Given the description of an element on the screen output the (x, y) to click on. 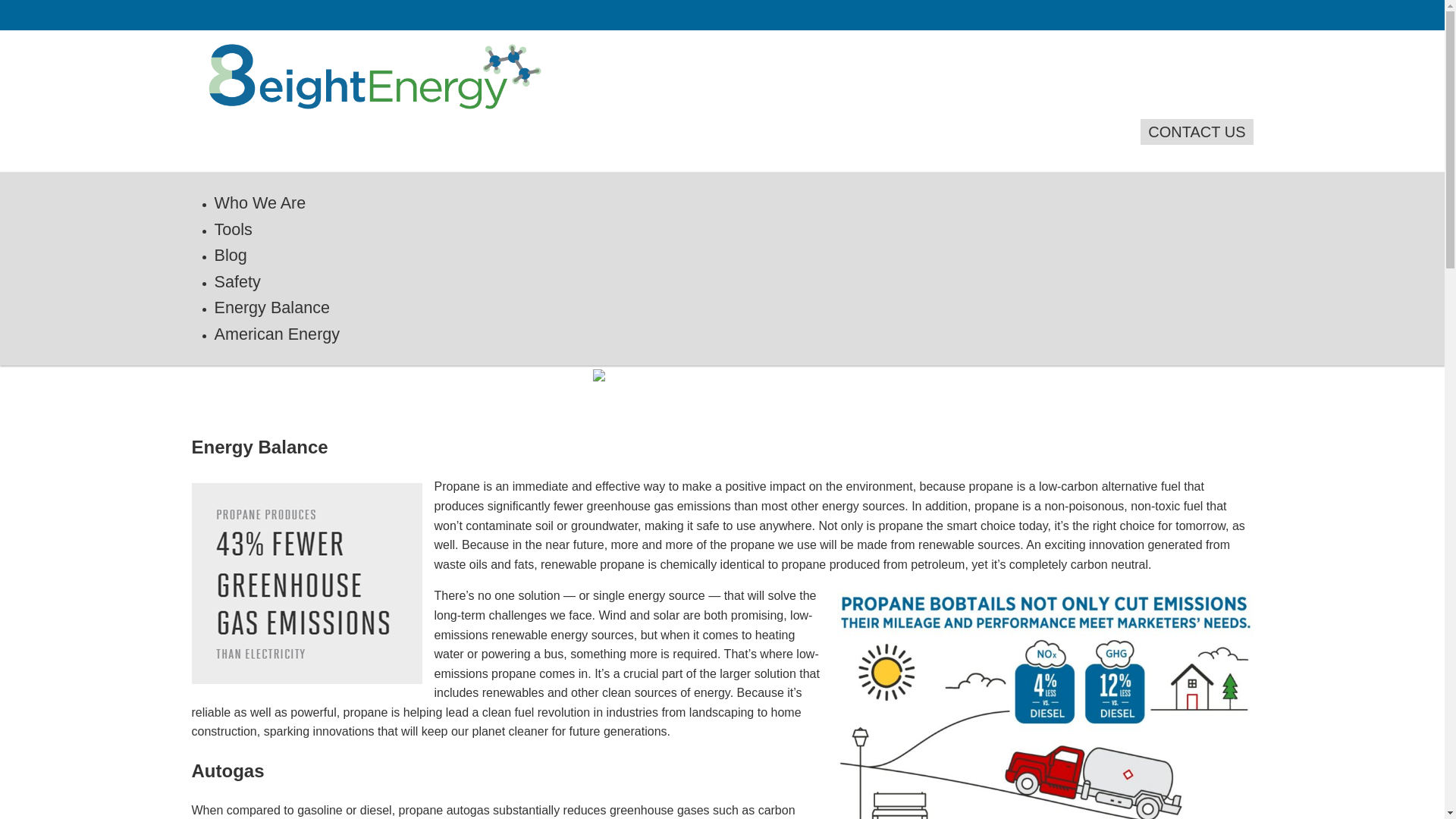
Energy Balance Element type: text (271, 307)
Blog Element type: text (229, 254)
CONTACT US Element type: text (1196, 131)
Who We Are Element type: text (259, 202)
Tools Element type: text (232, 228)
American Energy Element type: text (276, 333)
Safety Element type: text (236, 281)
